Given the description of an element on the screen output the (x, y) to click on. 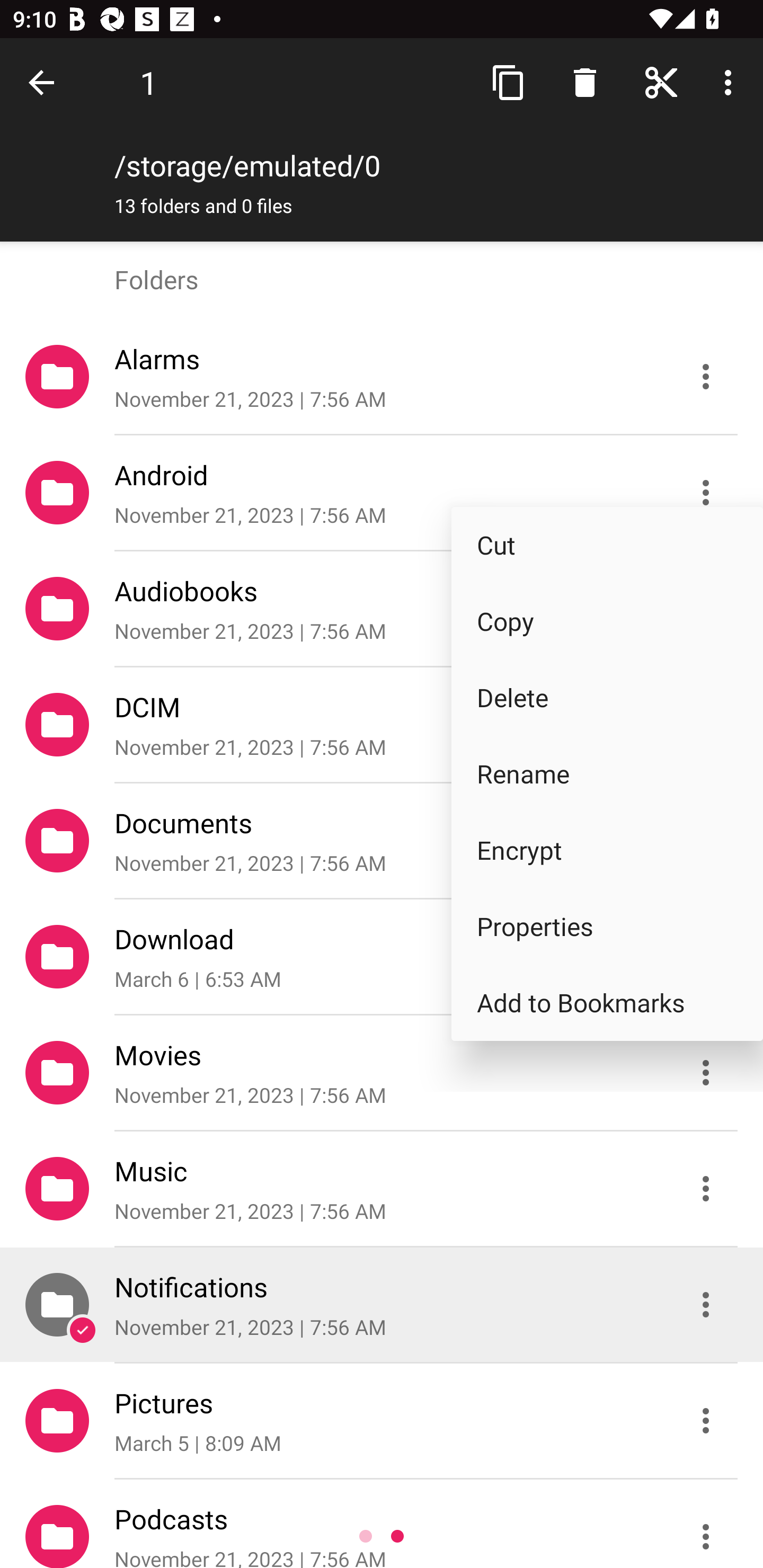
Cut (607, 544)
Copy (607, 621)
Delete (607, 697)
Rename (607, 773)
Encrypt (607, 850)
Properties (607, 926)
Add to Bookmarks (607, 1002)
